Given the description of an element on the screen output the (x, y) to click on. 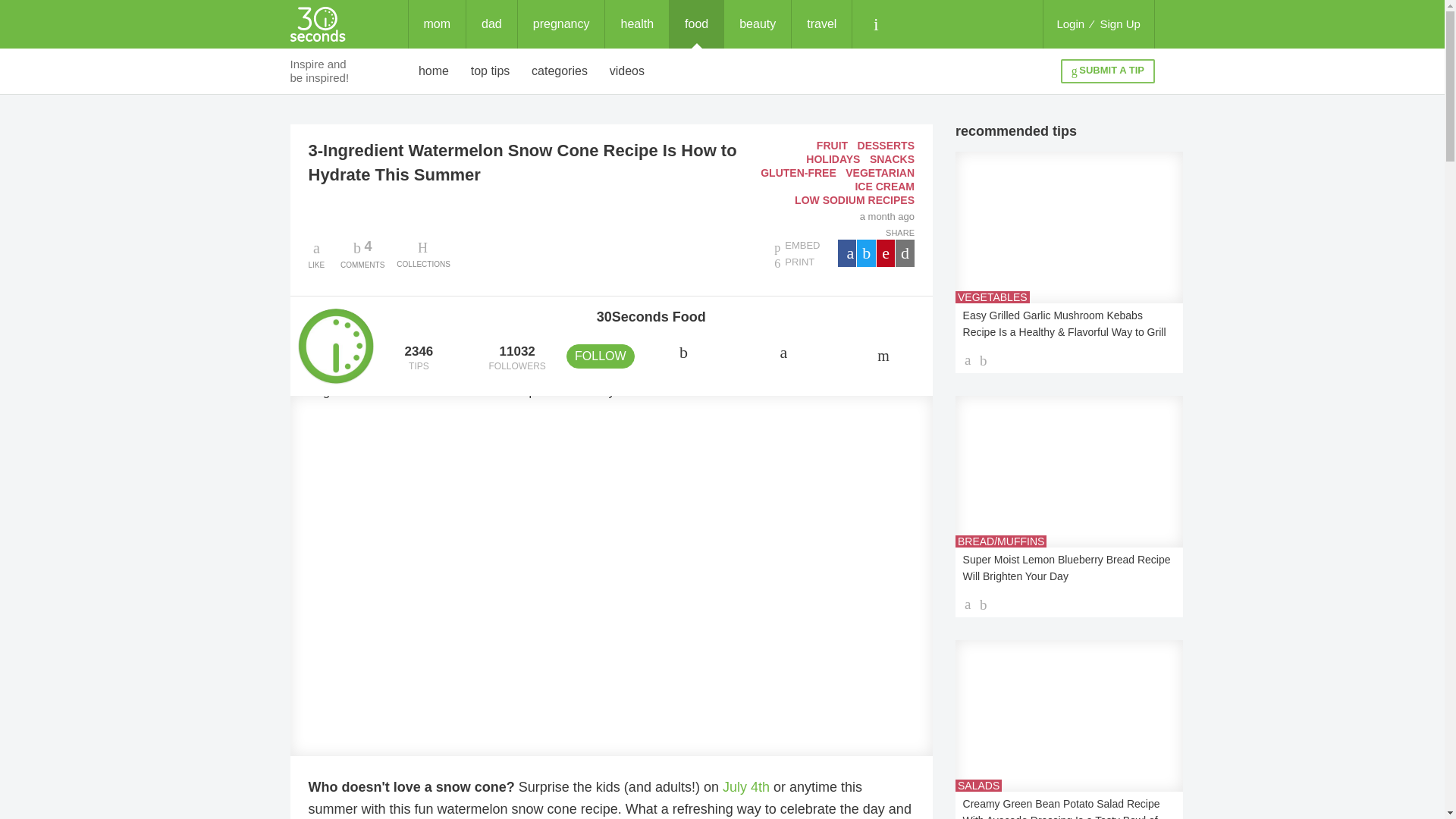
categories (559, 71)
pregnancy (561, 24)
food (696, 24)
Sign Up (1120, 23)
home (362, 253)
travel (433, 71)
Login (821, 24)
top tips (1069, 23)
beauty (489, 71)
dad (756, 24)
mom (490, 24)
health (436, 24)
